Given the description of an element on the screen output the (x, y) to click on. 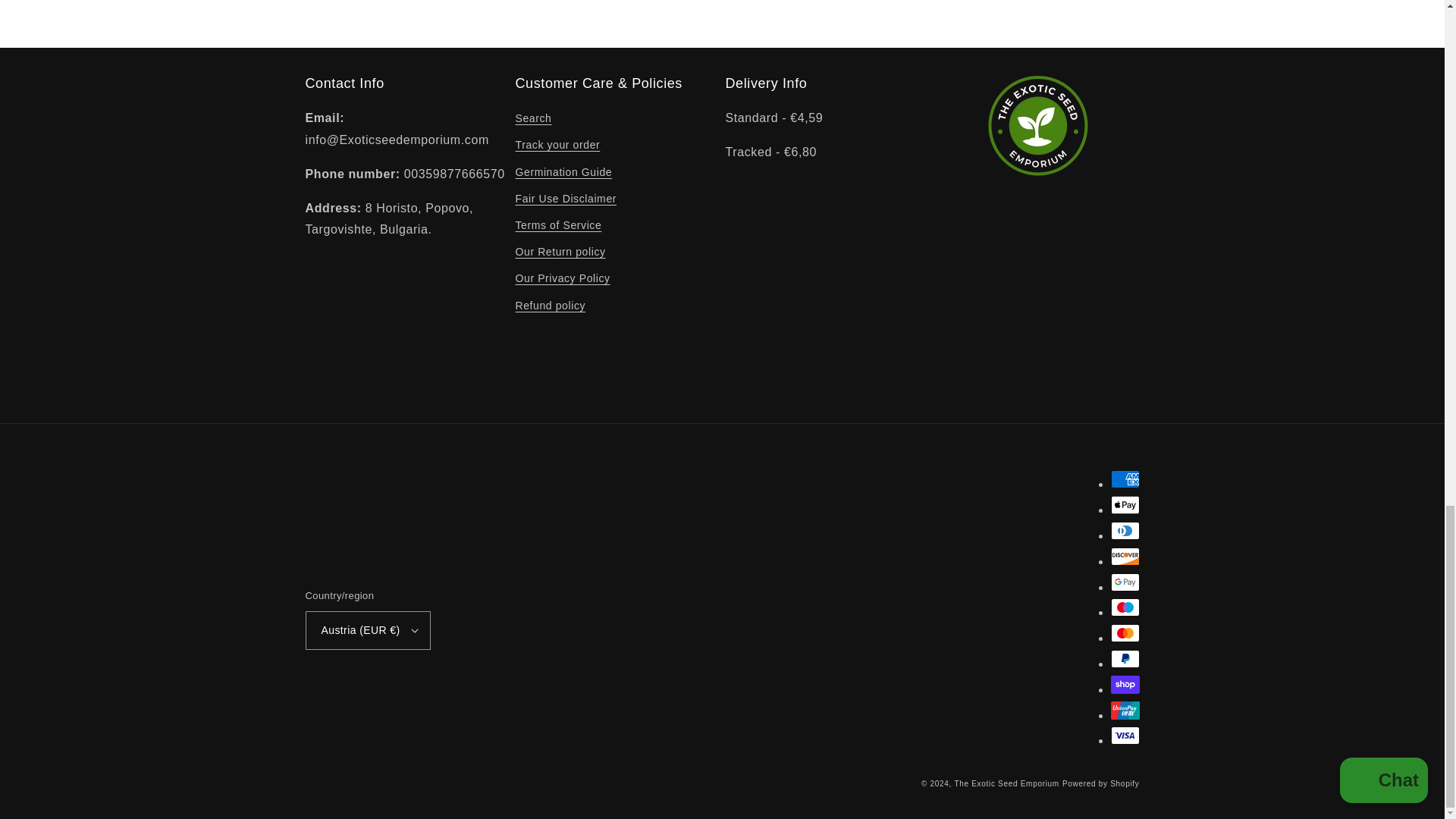
Visa (1123, 735)
PayPal (1123, 659)
Shop Pay (1123, 684)
Mastercard (1123, 633)
Maestro (1123, 607)
Union Pay (1123, 710)
Google Pay (1123, 582)
American Express (1123, 479)
Apple Pay (1123, 505)
Discover (1123, 556)
